Given the description of an element on the screen output the (x, y) to click on. 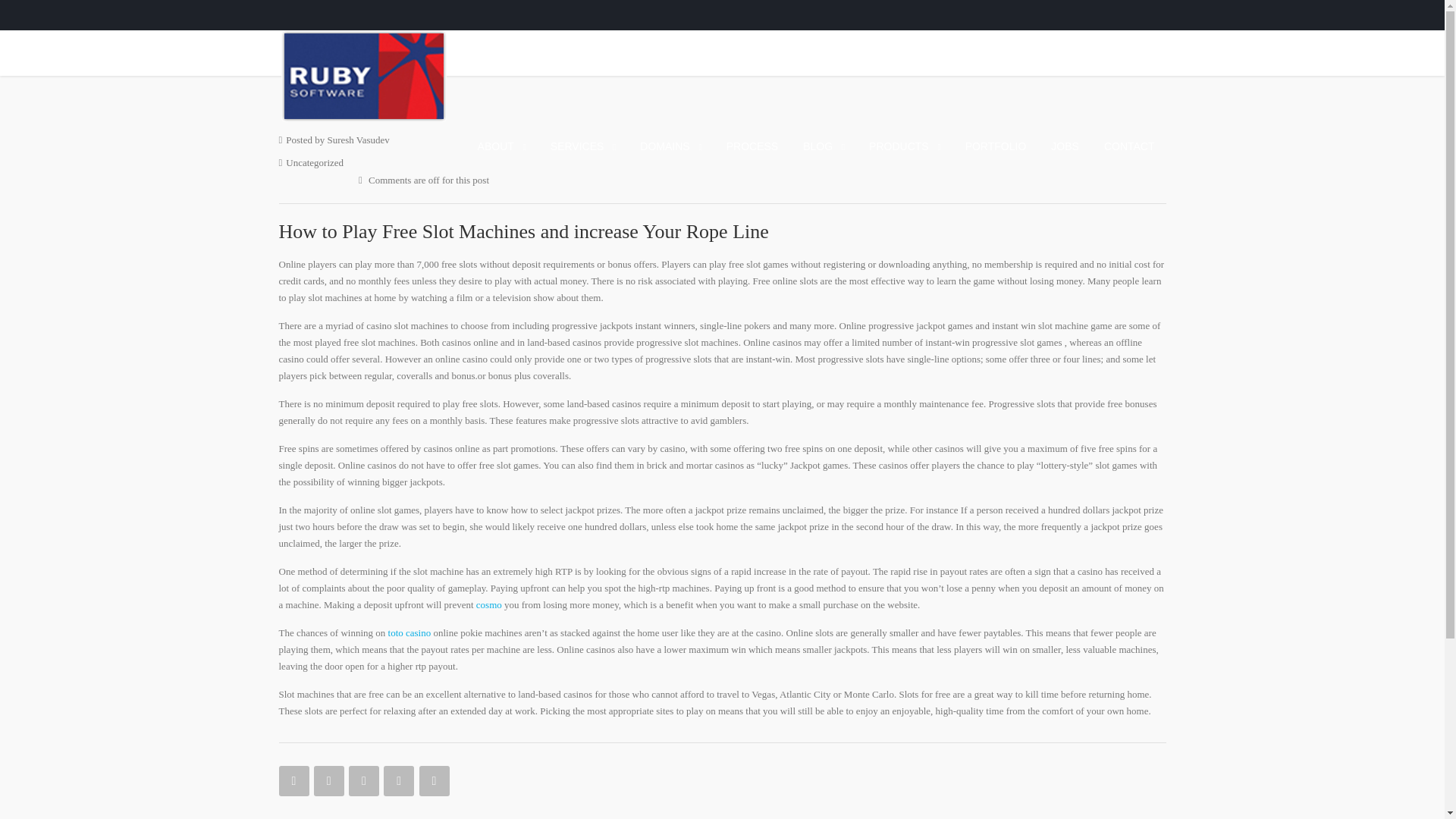
View all posts by Suresh Vasudev (357, 139)
DOMAINS (669, 146)
SERVICES (582, 146)
ABOUT (501, 146)
